Given the description of an element on the screen output the (x, y) to click on. 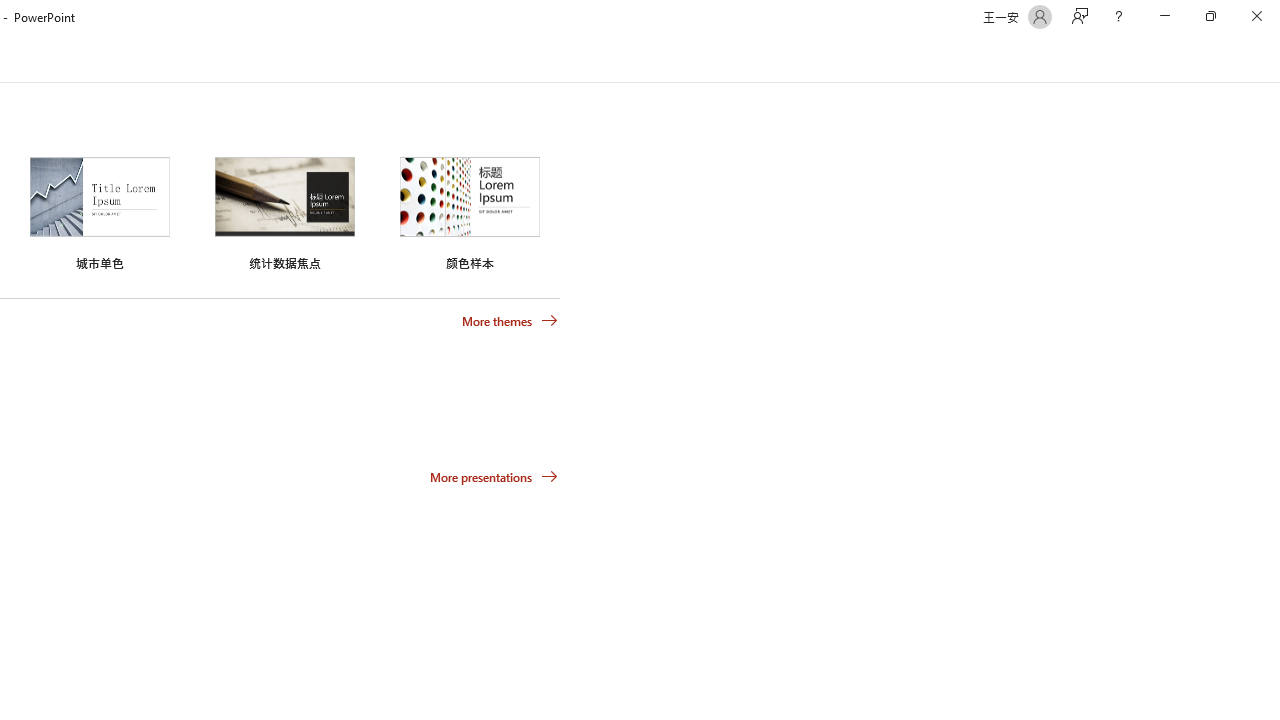
Class: NetUIScrollBar (1271, 59)
More presentations (493, 476)
More themes (509, 321)
